Given the description of an element on the screen output the (x, y) to click on. 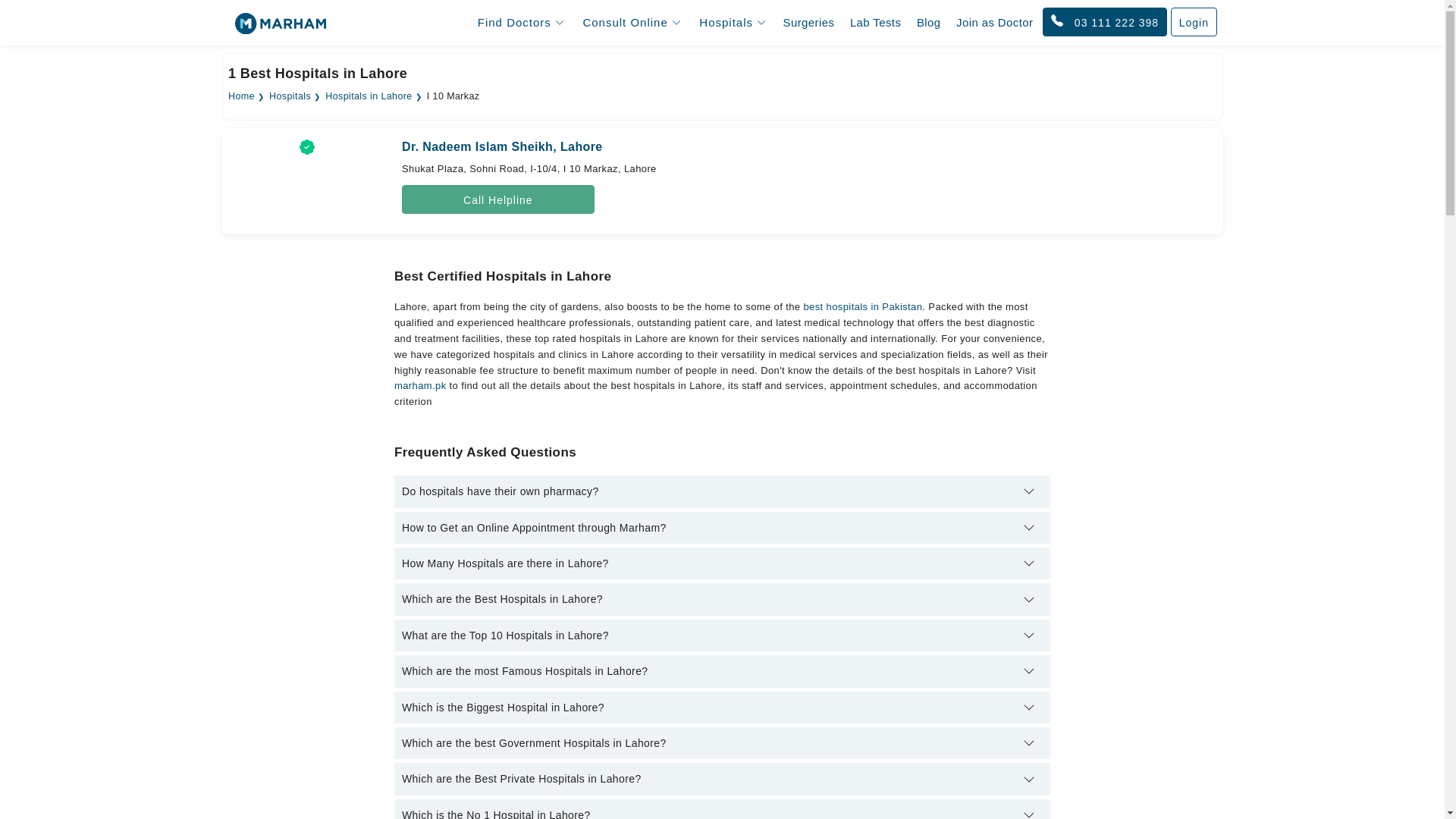
Login (1193, 22)
Call Helpline (497, 199)
03 111 222 398 (1104, 21)
Home (241, 95)
best hospitals in Pakistan (862, 306)
Hospitals (290, 95)
Lab Tests (875, 22)
marham.pk (420, 385)
Blog (929, 22)
Join as Doctor (994, 22)
Login (1193, 21)
Hospitals in Lahore (368, 95)
Dr. Nadeem Islam Sheikh, Lahore (501, 146)
Surgeries (809, 22)
Find Doctors (521, 22)
